Given the description of an element on the screen output the (x, y) to click on. 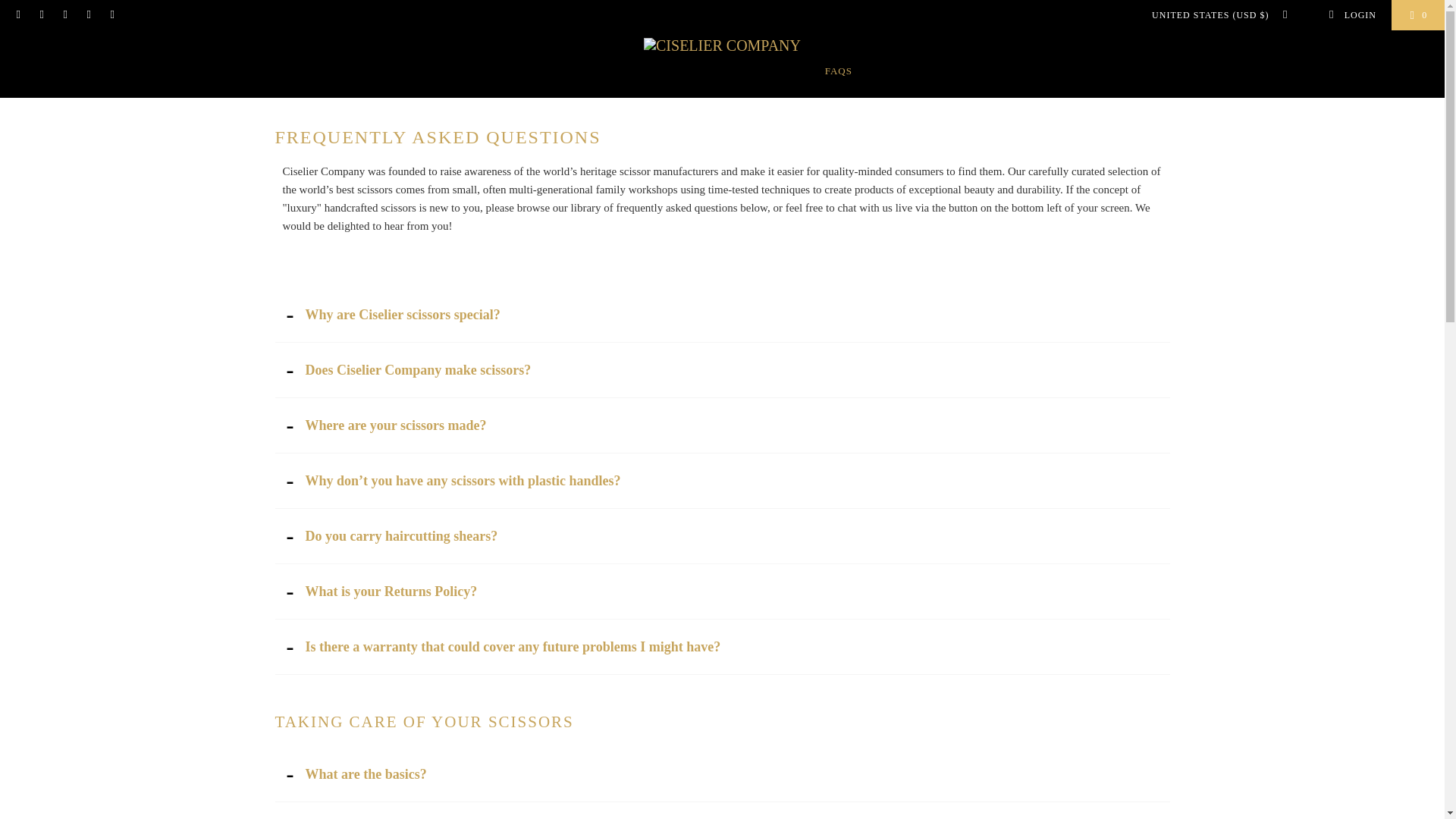
LOGIN (1351, 15)
Ciselier Company on Facebook (110, 14)
Ciselier Company on Pinterest (17, 14)
Ciselier Company on Instagram (41, 14)
LEFT-HANDED (775, 71)
CONTACT (888, 71)
Email Ciselier Company (64, 14)
KITCHEN (514, 71)
Why are Ciselier scissors special? (722, 315)
Ciselier Company (721, 45)
